Given the description of an element on the screen output the (x, y) to click on. 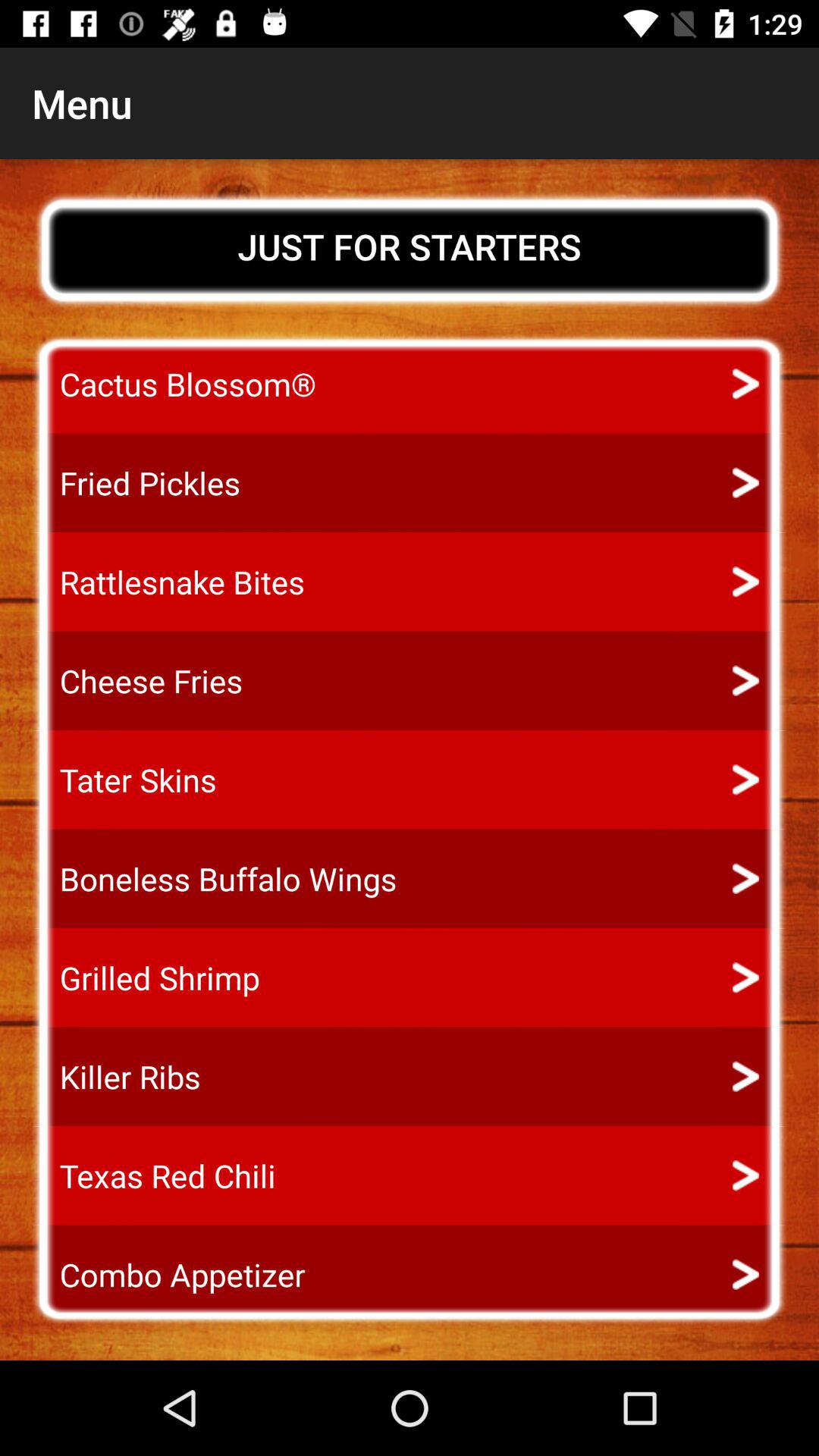
swipe until the texas red chili app (153, 1175)
